Given the description of an element on the screen output the (x, y) to click on. 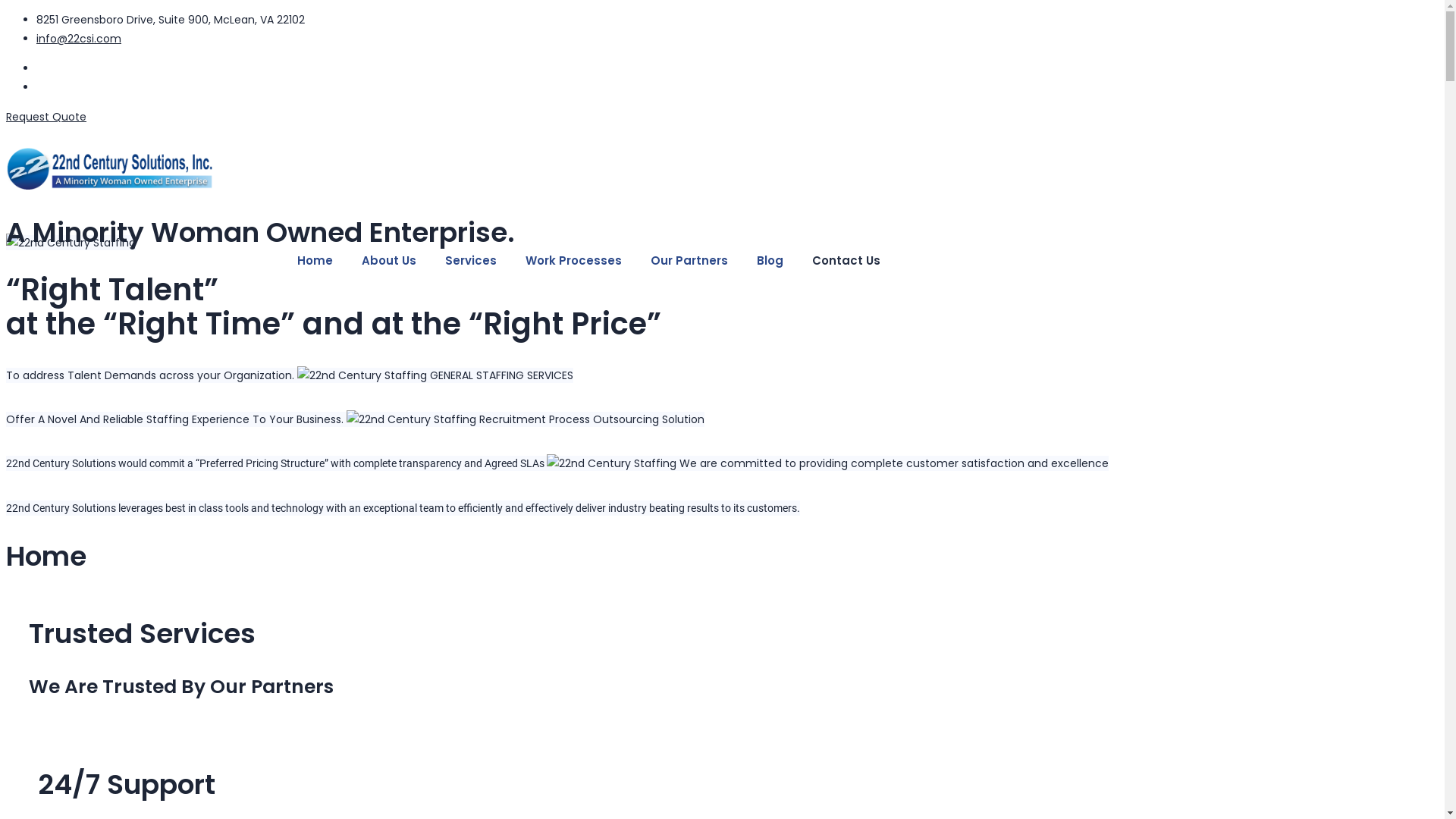
22nd Century Staffing Element type: hover (611, 463)
22nd Century Solutions Element type: hover (449, 170)
Work Processes Element type: text (573, 260)
Services Element type: text (470, 260)
22nd Century Staffing Element type: hover (411, 419)
Our Partners Element type: text (688, 260)
Home Element type: text (314, 260)
Request Quote Element type: text (46, 116)
Contact Us Element type: text (846, 260)
About Us Element type: text (388, 260)
22nd Century Staffing Element type: hover (361, 375)
info@22csi.com Element type: text (78, 38)
Blog Element type: text (769, 260)
22nd Century Staffing Element type: hover (70, 242)
